Given the description of an element on the screen output the (x, y) to click on. 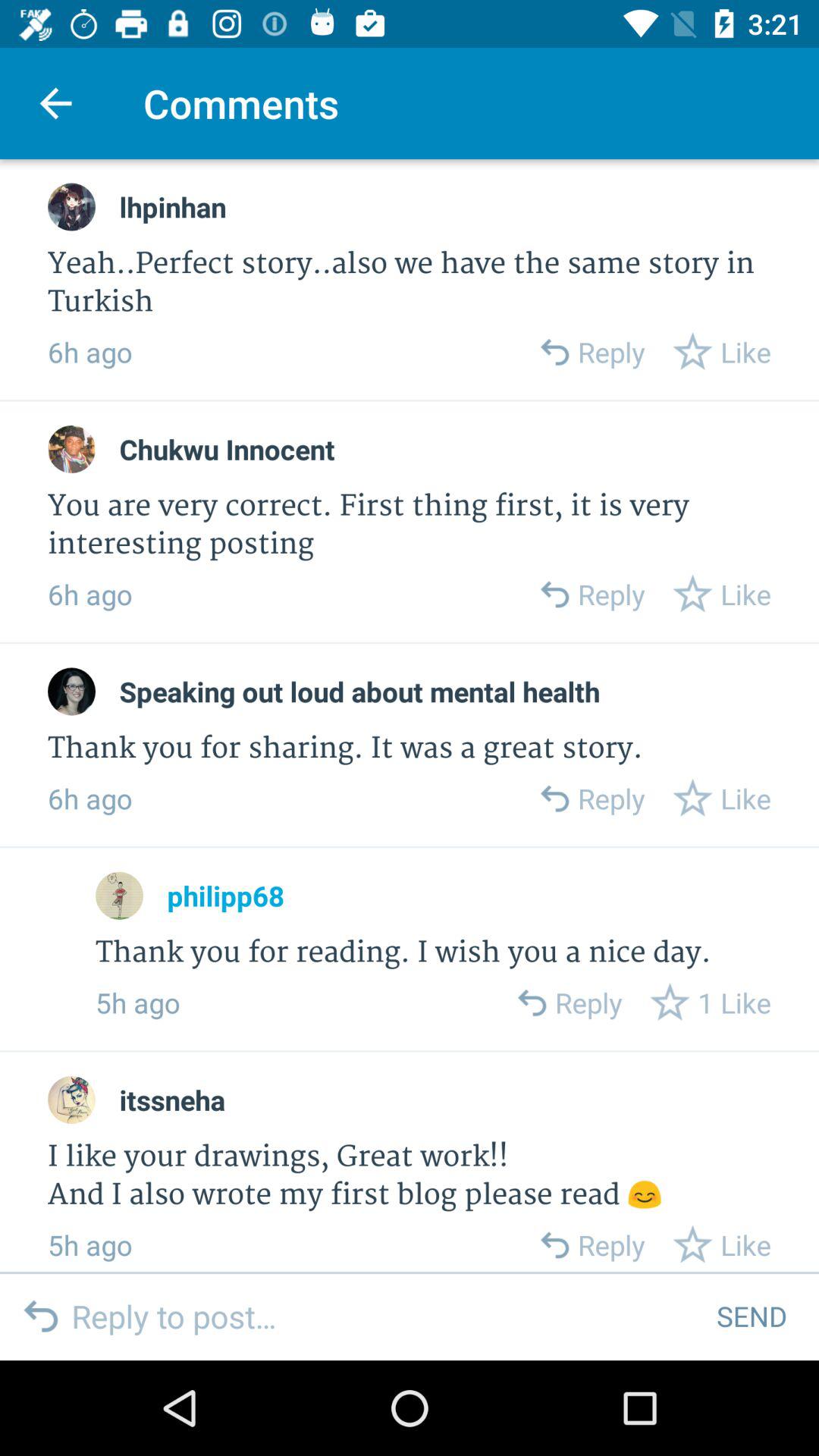
jump to itssneha item (172, 1099)
